Given the description of an element on the screen output the (x, y) to click on. 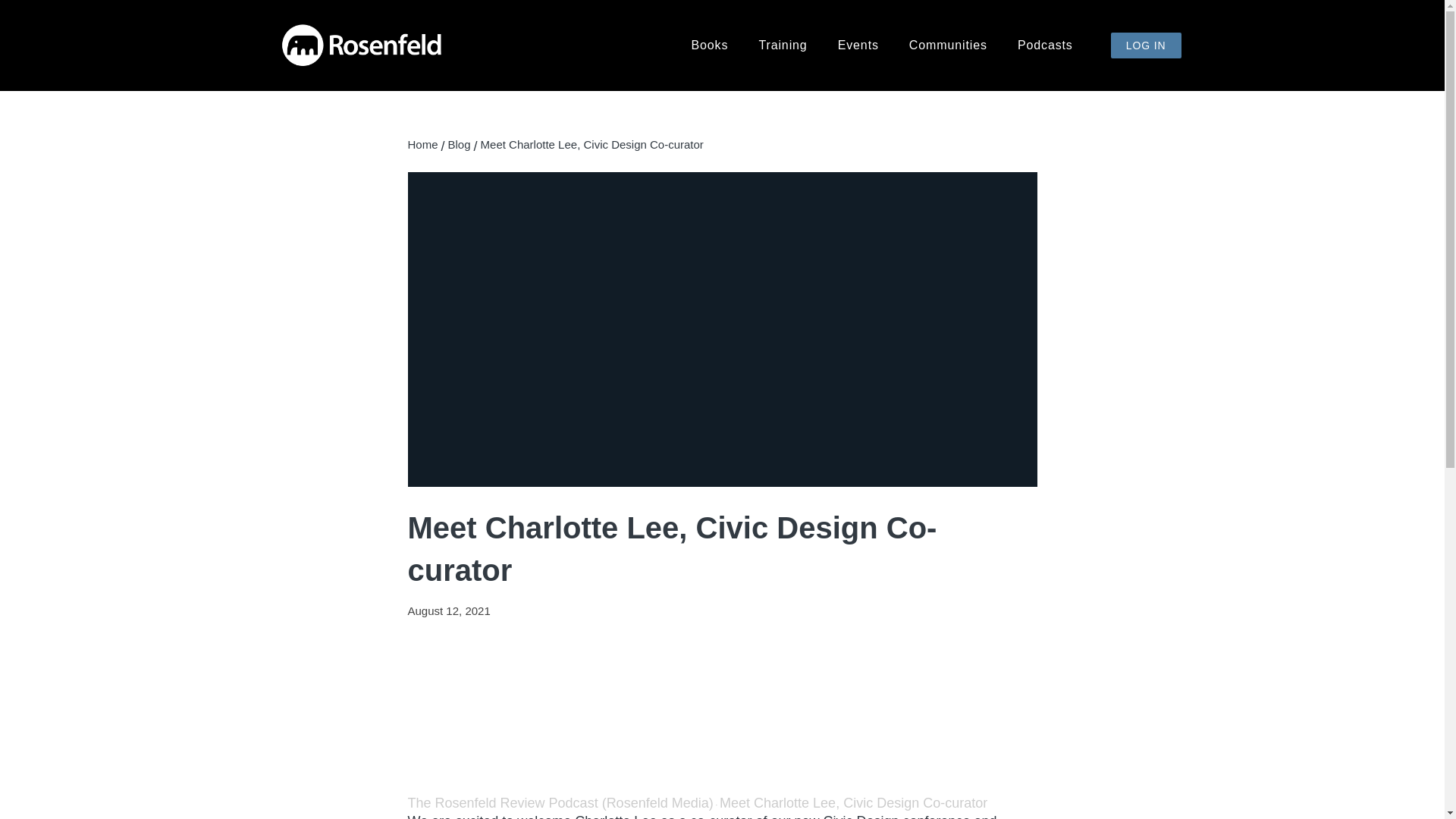
LOG IN (1145, 45)
Blog (459, 144)
Events (857, 45)
Books (710, 45)
Meet Charlotte Lee, Civic Design Co-curator (853, 802)
Home (422, 144)
Meet Charlotte Lee, Civic Design Co-curator (853, 802)
Podcasts (1045, 45)
Communities (948, 45)
Training (782, 45)
